Given the description of an element on the screen output the (x, y) to click on. 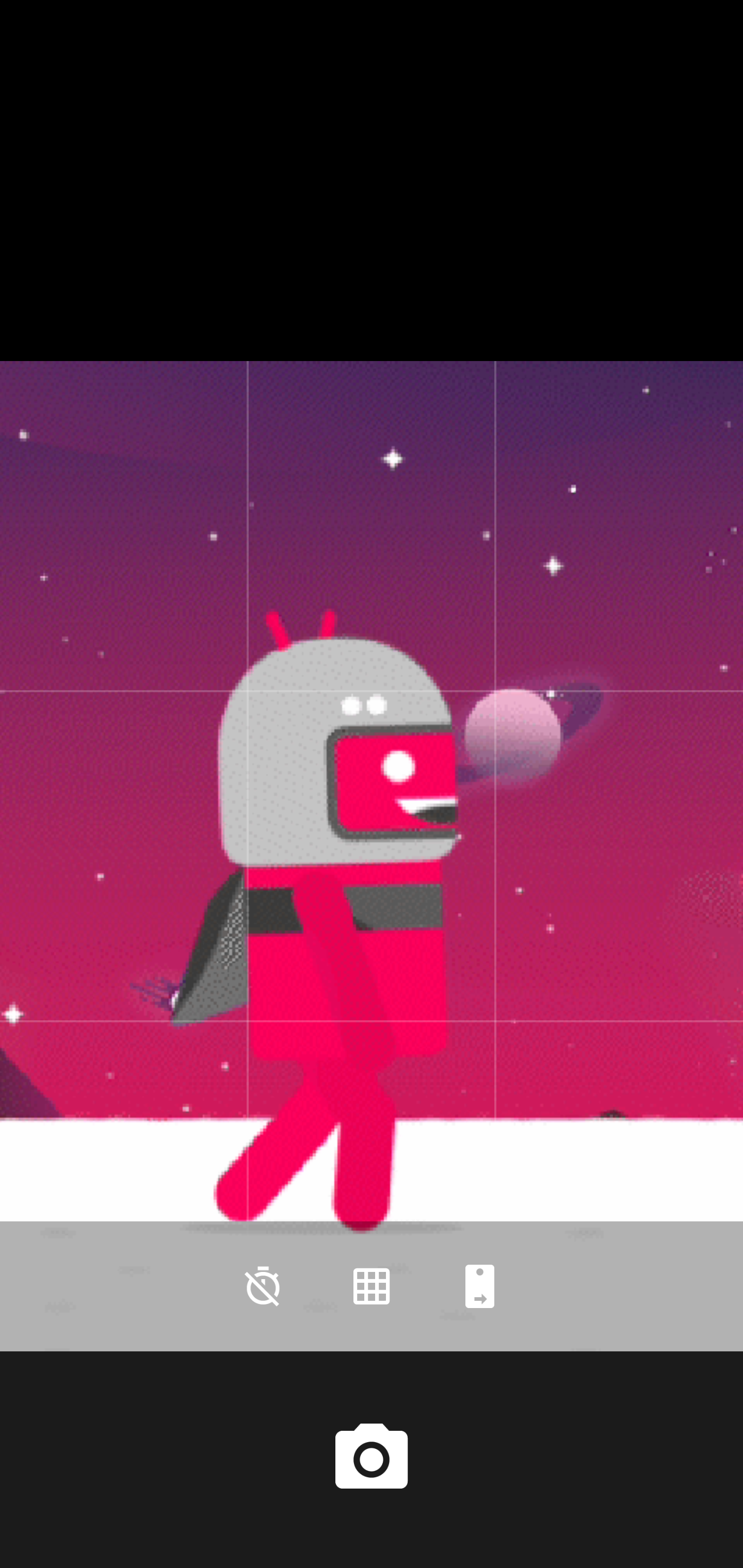
Countdown timer is off Grid lines on Back camera (371, 1286)
Countdown timer is off (262, 1286)
Grid lines on (371, 1286)
Back camera (479, 1286)
Shutter (371, 1459)
